Given the description of an element on the screen output the (x, y) to click on. 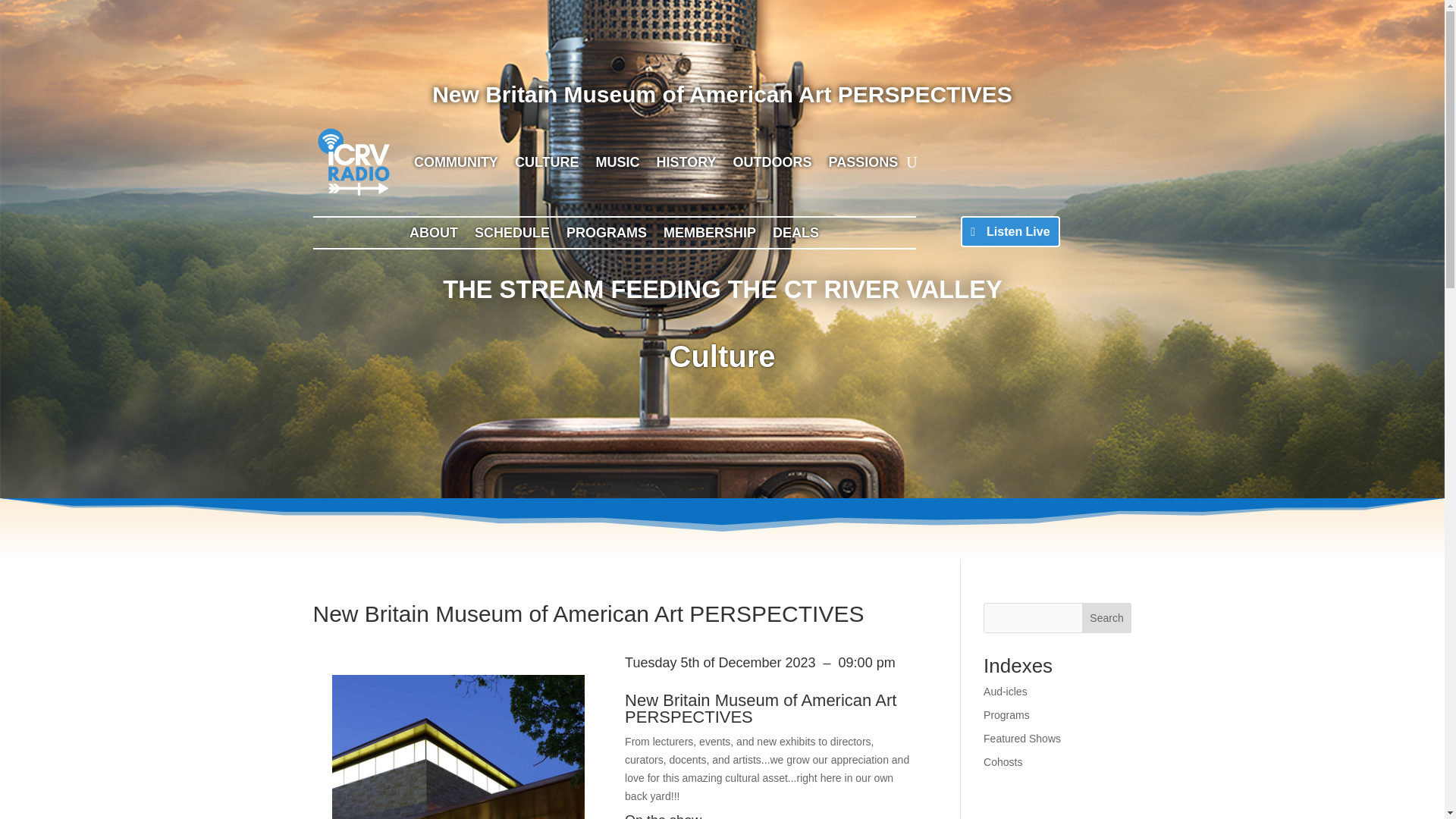
OUTDOORS (772, 162)
DEALS (795, 235)
SCHEDULE (512, 235)
PASSIONS (863, 162)
PROGRAMS (606, 235)
Listen Live (1009, 231)
MEMBERSHIP (709, 235)
ABOUT (433, 235)
COMMUNITY (455, 162)
